Given the description of an element on the screen output the (x, y) to click on. 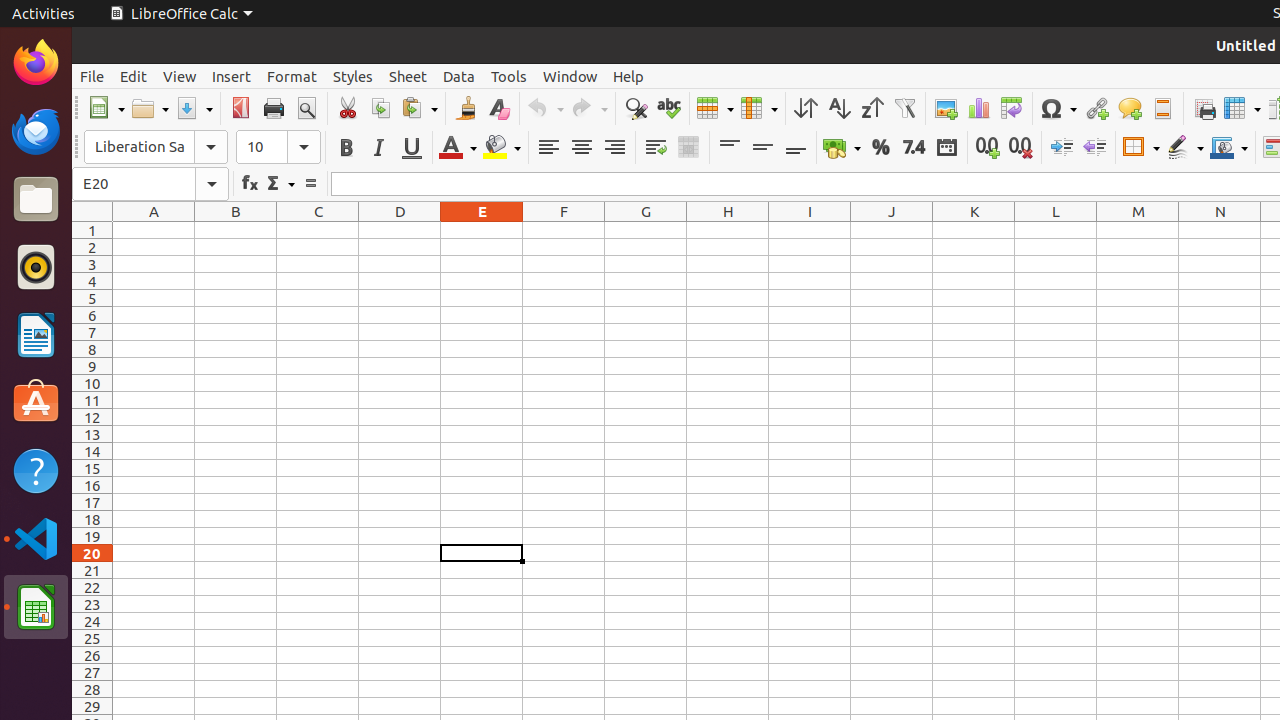
New Element type: push-button (106, 108)
Clone Element type: push-button (465, 108)
Comment Element type: push-button (1129, 108)
Center Vertically Element type: push-button (762, 147)
K1 Element type: table-cell (974, 230)
